Given the description of an element on the screen output the (x, y) to click on. 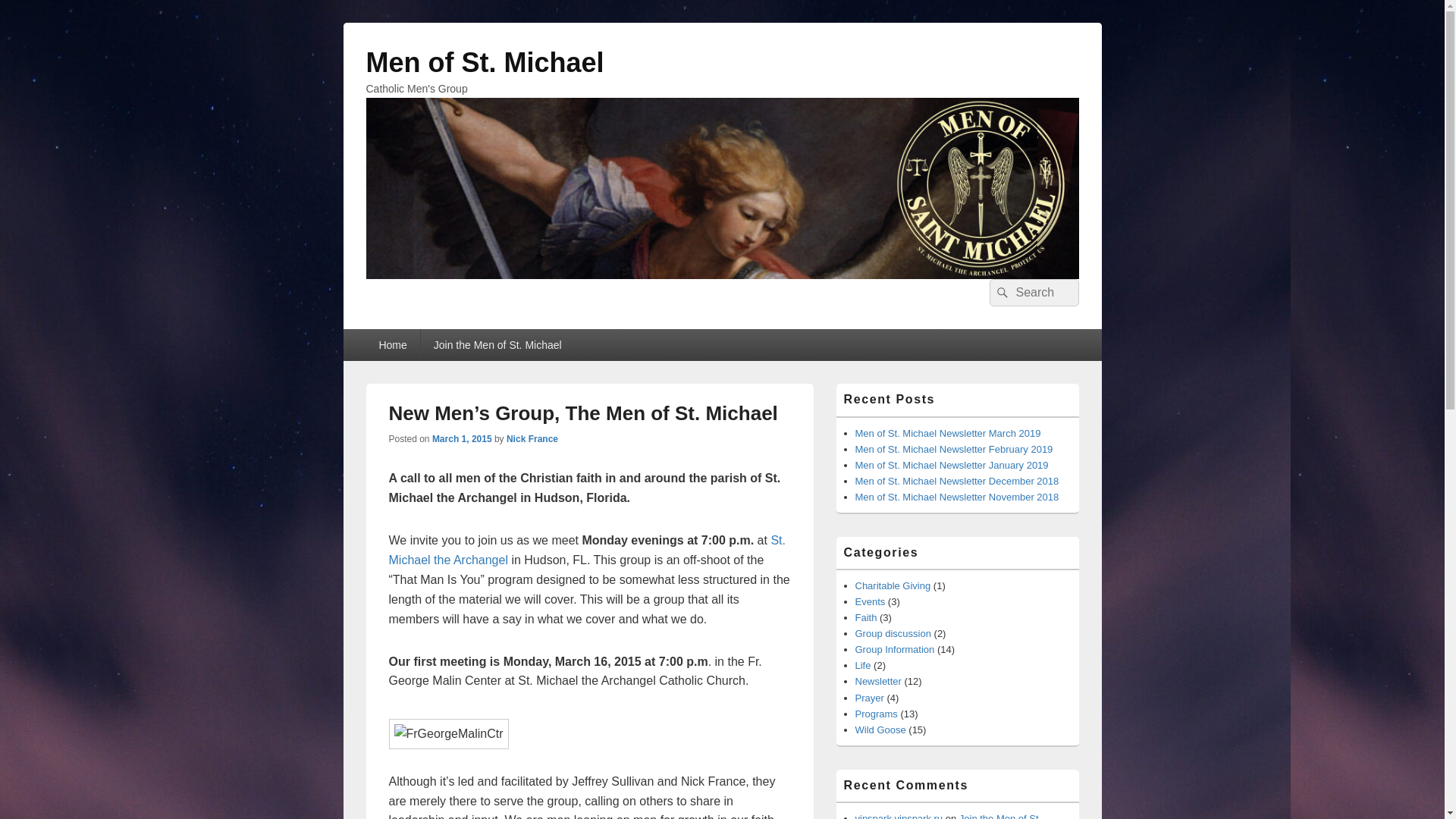
Group Information (895, 649)
Nick France (531, 439)
Men of St. Michael (484, 61)
Join the Men of St. Michael (497, 345)
Men of St. Michael Newsletter November 2018 (957, 496)
Events (870, 601)
Home (392, 345)
Search for: (1033, 292)
Charitable Giving (893, 585)
Visit website (586, 549)
